Given the description of an element on the screen output the (x, y) to click on. 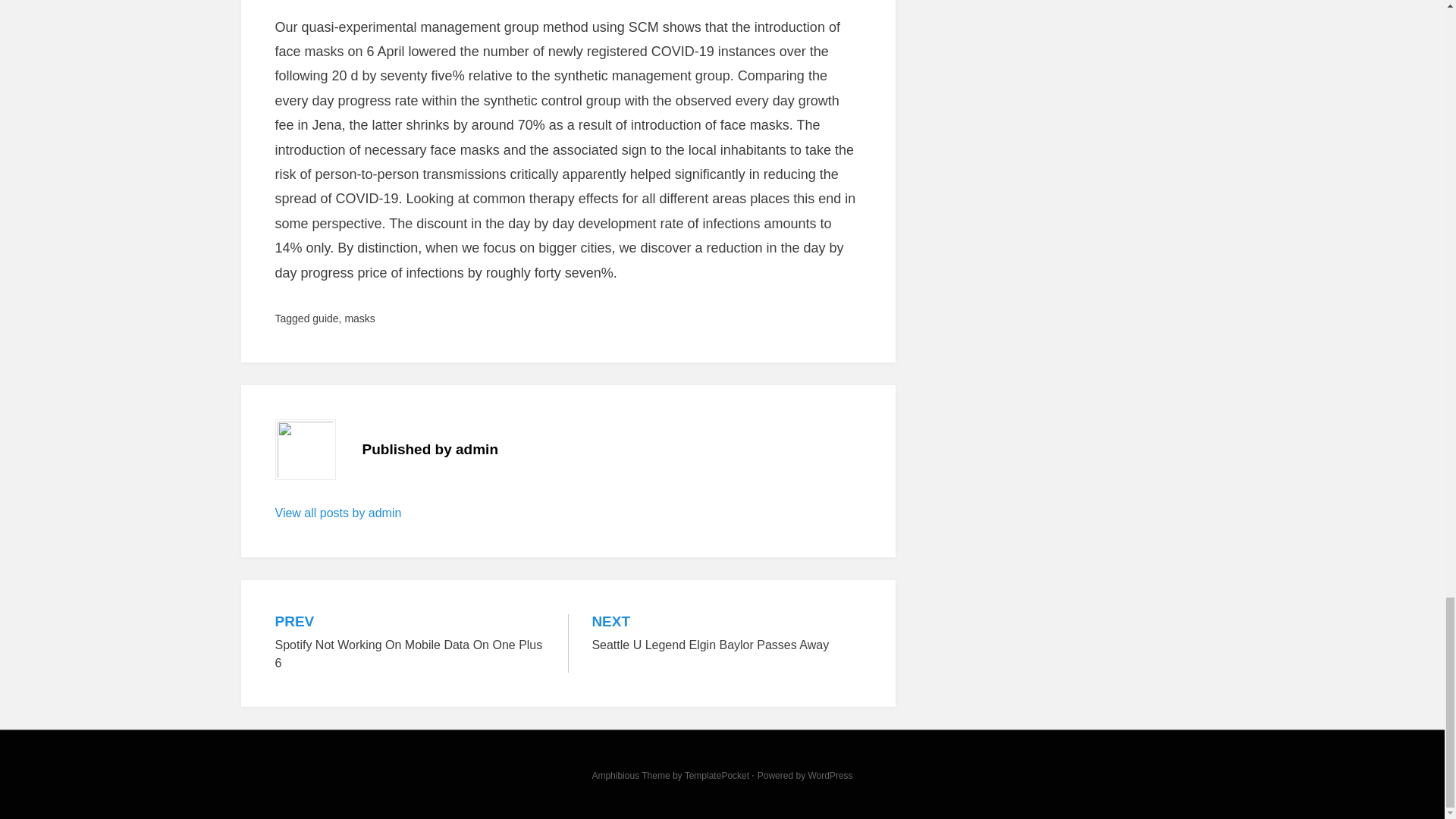
TemplatePocket (726, 634)
View all posts by admin (716, 775)
masks (338, 512)
guide (358, 318)
WordPress (325, 318)
